Given the description of an element on the screen output the (x, y) to click on. 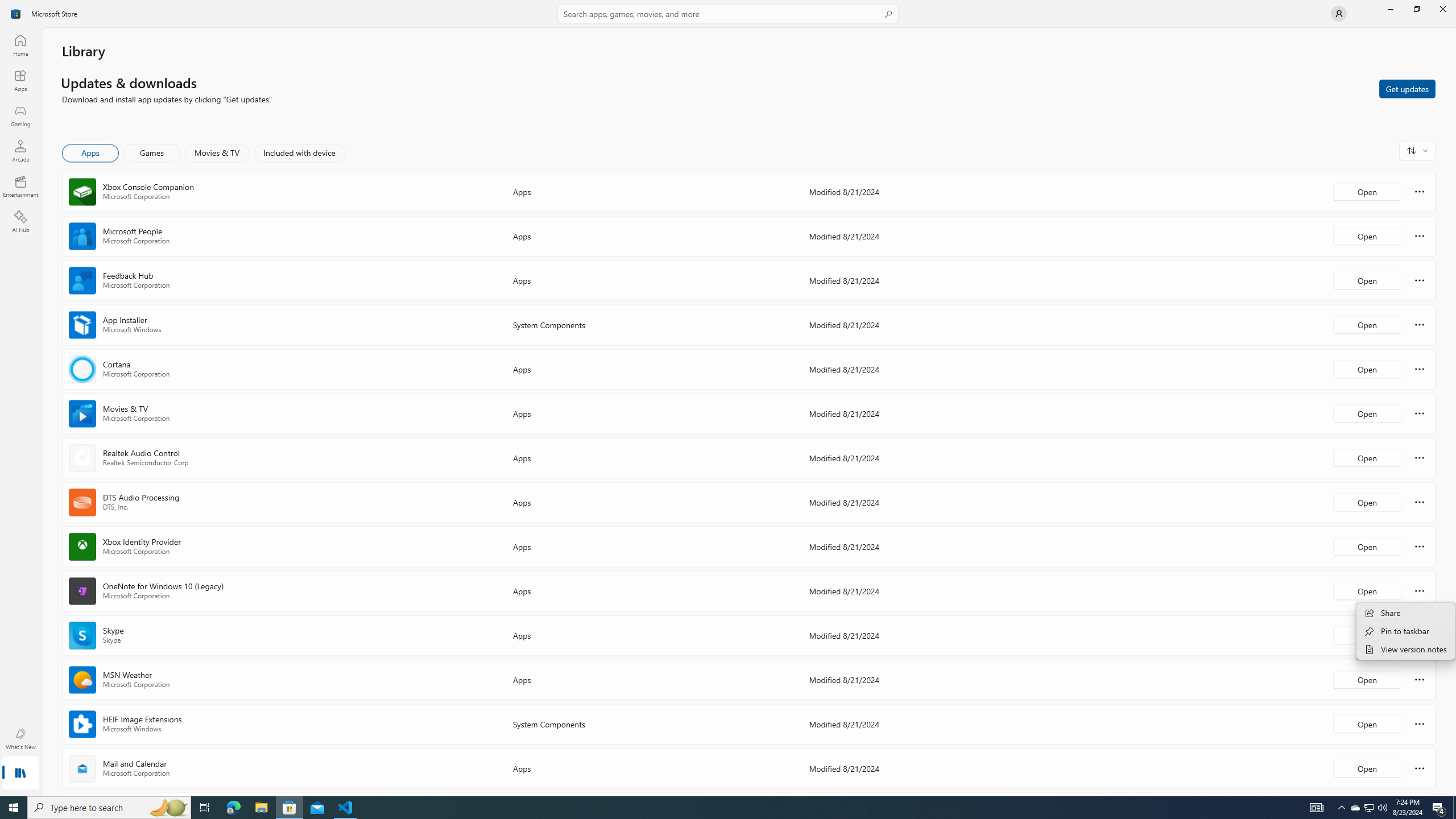
Apps (20, 80)
Search (727, 13)
More options (1419, 768)
Entertainment (20, 185)
Open (1366, 768)
Movies & TV (216, 153)
Sort and filter (1417, 149)
Gaming (20, 115)
Included with device (299, 153)
Apps (90, 153)
Arcade (20, 150)
Games (151, 153)
Close Microsoft Store (1442, 9)
Restore Microsoft Store (1416, 9)
Home (20, 45)
